Given the description of an element on the screen output the (x, y) to click on. 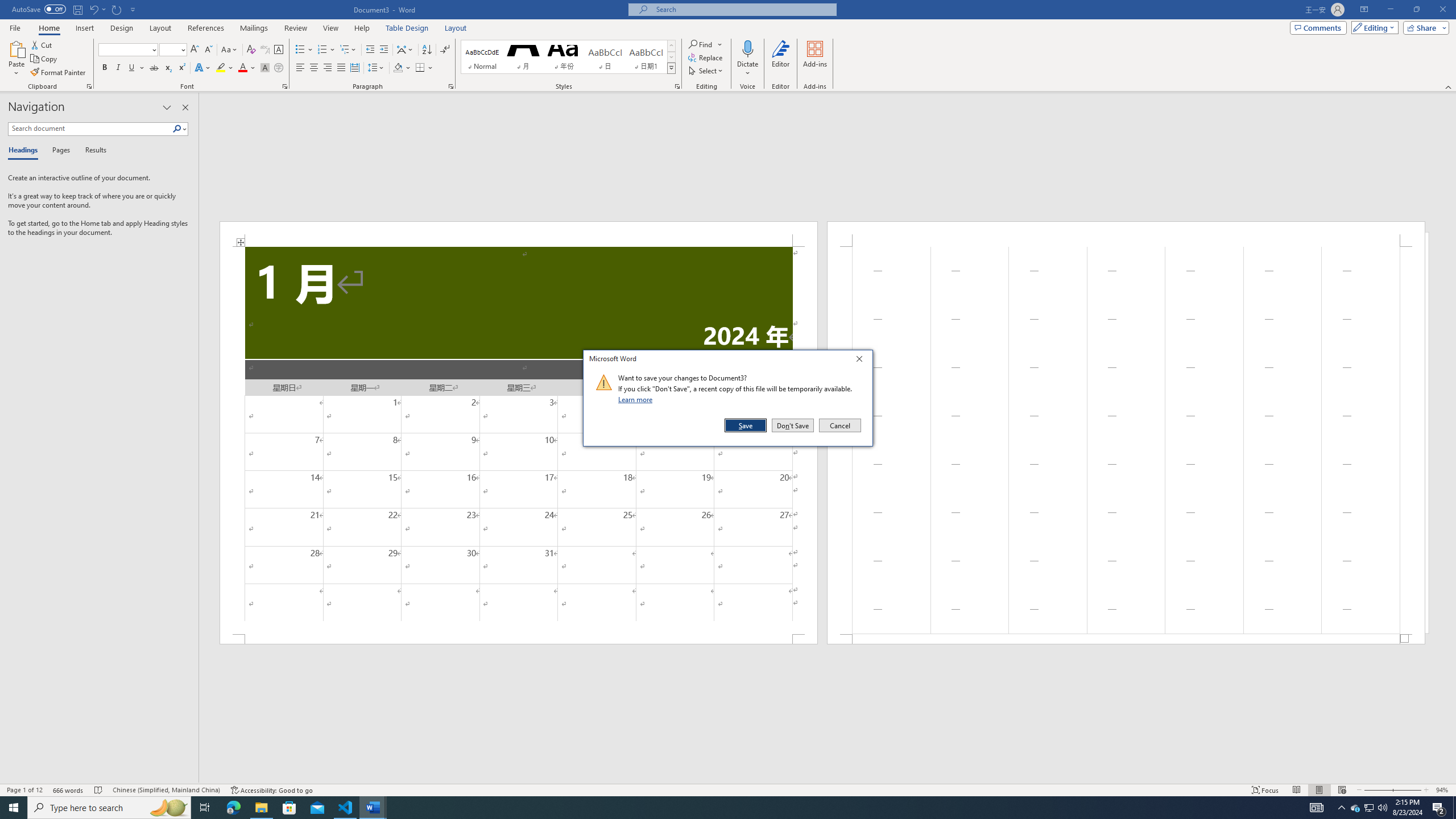
Accessibility Checker Accessibility: Good to go (271, 790)
Line and Paragraph Spacing (376, 67)
Collapse the Ribbon (1368, 807)
Paragraph... (1448, 86)
Text Highlight Color (450, 85)
View (224, 67)
